Given the description of an element on the screen output the (x, y) to click on. 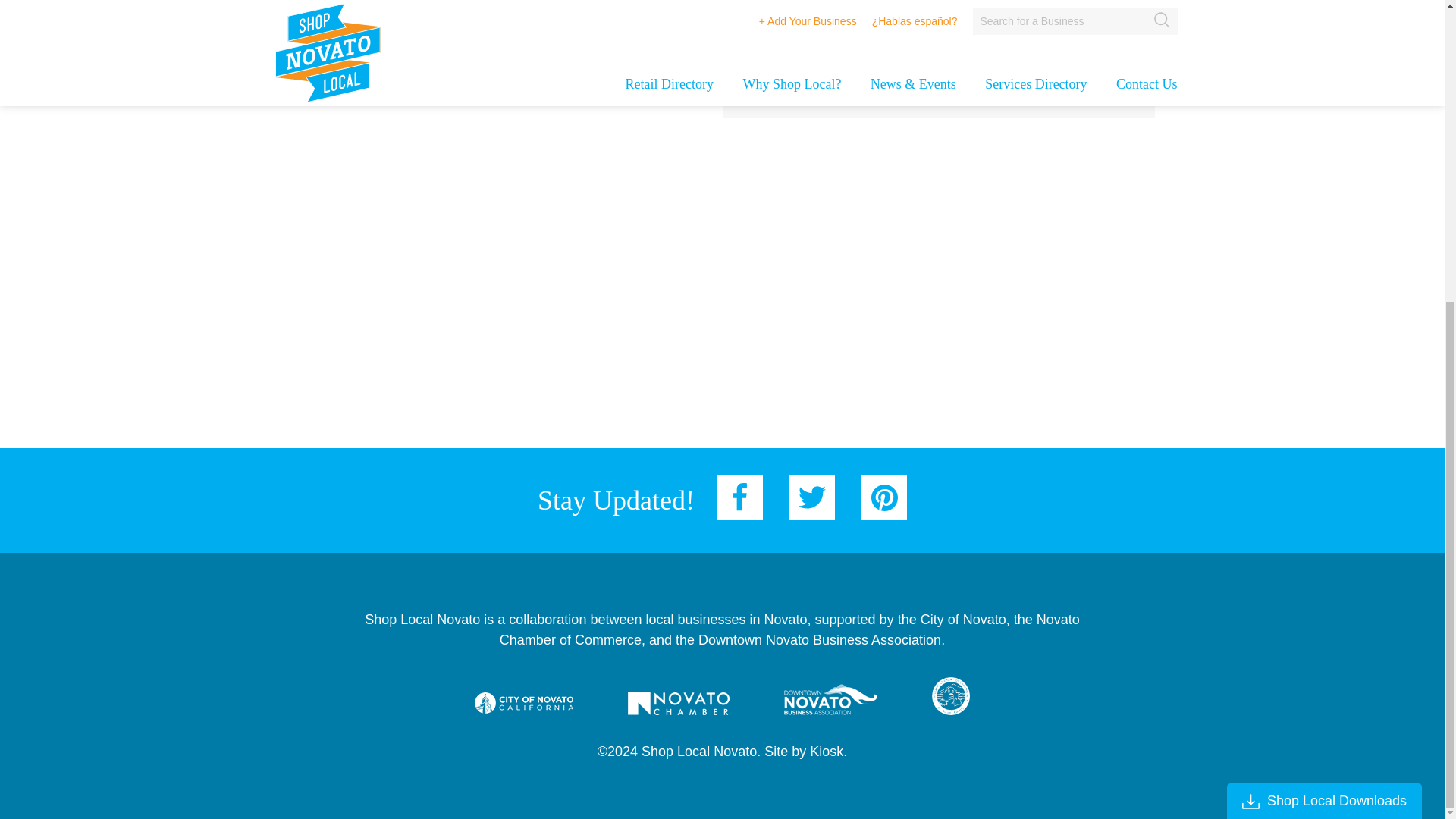
Pinterest Logo (884, 497)
Kiosk. (828, 751)
floorsofmarin.com (865, 2)
Facebook Logo (739, 497)
Twitter Logo (811, 497)
